Given the description of an element on the screen output the (x, y) to click on. 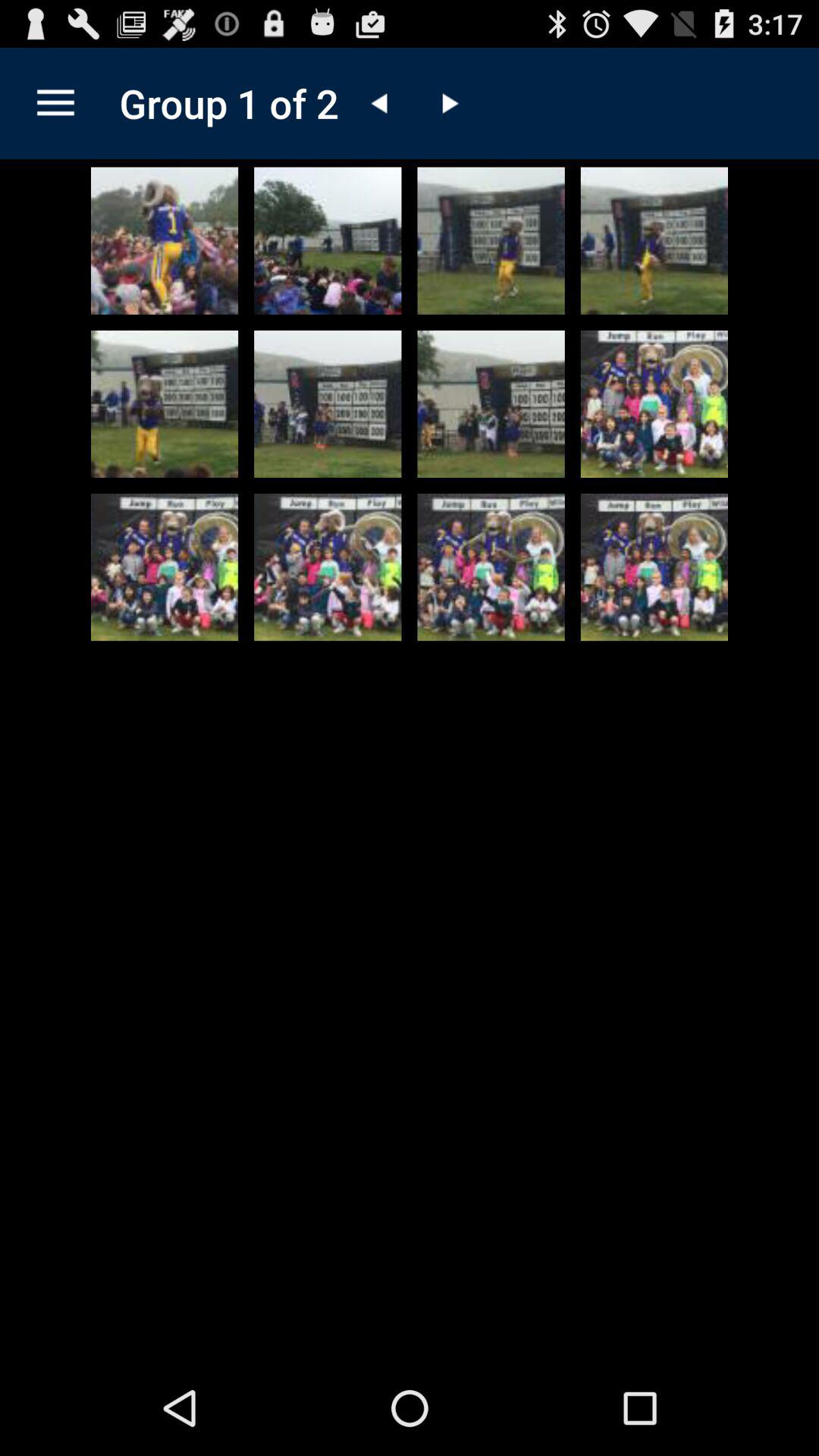
view picture bigger (164, 403)
